Given the description of an element on the screen output the (x, y) to click on. 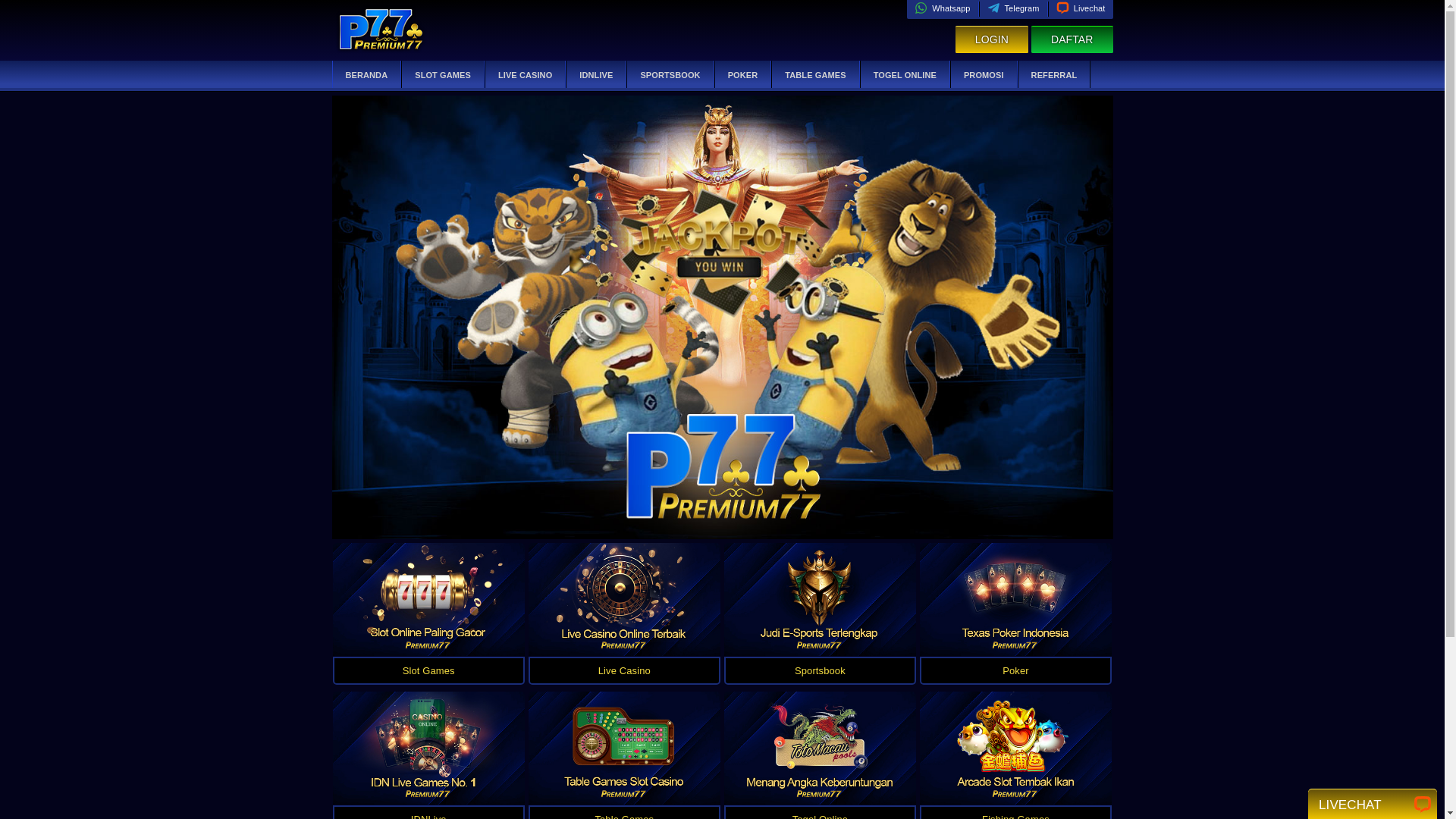
REFERRAL Element type: text (1054, 74)
IDNLIVE Element type: text (595, 74)
SLOT GAMES Element type: text (442, 74)
Slot Games Element type: text (428, 670)
POKER Element type: text (743, 74)
LIVECHAT Element type: text (1372, 802)
Sportsbook Element type: text (820, 670)
LIVE CASINO Element type: text (524, 74)
LOGIN Element type: text (991, 39)
DAFTAR Element type: text (1072, 39)
Telegram Element type: text (1013, 7)
Live Casino Element type: text (624, 670)
Livechat Element type: text (1080, 7)
TOGEL ONLINE Element type: text (904, 74)
TABLE GAMES Element type: text (814, 74)
SPORTSBOOK Element type: text (669, 74)
Whatsapp Element type: text (941, 7)
BERANDA Element type: text (366, 74)
PROMOSI Element type: text (983, 74)
Poker Element type: text (1015, 670)
